Given the description of an element on the screen output the (x, y) to click on. 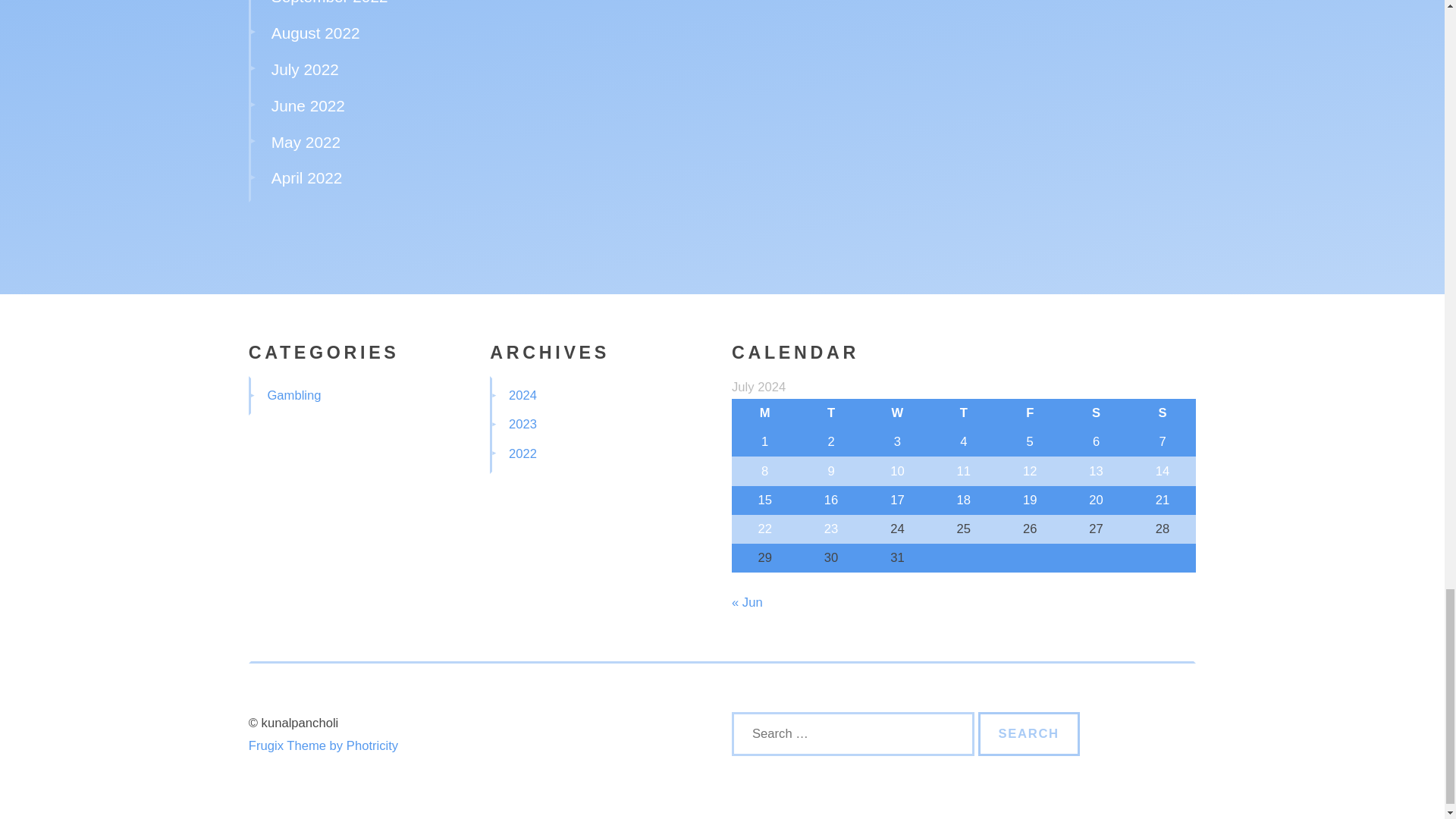
May 2022 (305, 141)
June 2022 (307, 105)
Friday (1029, 412)
Thursday (962, 412)
Sunday (1162, 412)
Saturday (1095, 412)
Search (1029, 733)
Wednesday (897, 412)
August 2022 (314, 32)
Monday (764, 412)
Tuesday (830, 412)
September 2022 (329, 2)
Search (1029, 733)
Gambling (293, 395)
July 2022 (304, 68)
